Given the description of an element on the screen output the (x, y) to click on. 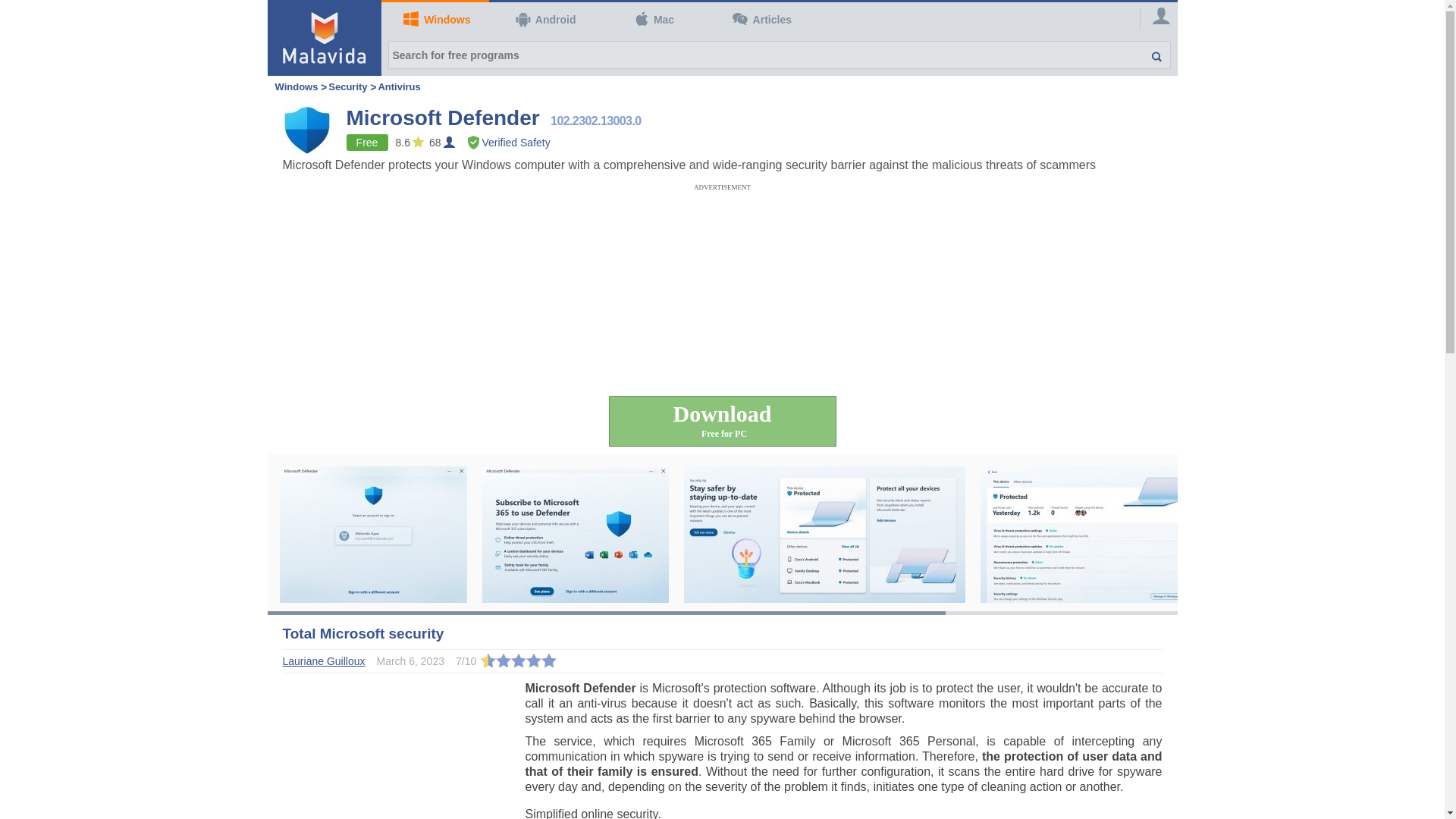
Microsoft Defender image 4  (1091, 532)
search (1148, 54)
Download (721, 420)
Antivirus (398, 86)
Download programs free for Android (543, 19)
Download programs free for Mac (651, 19)
The best antiviruses for PC (398, 86)
Security (347, 86)
Windows (296, 86)
